Given the description of an element on the screen output the (x, y) to click on. 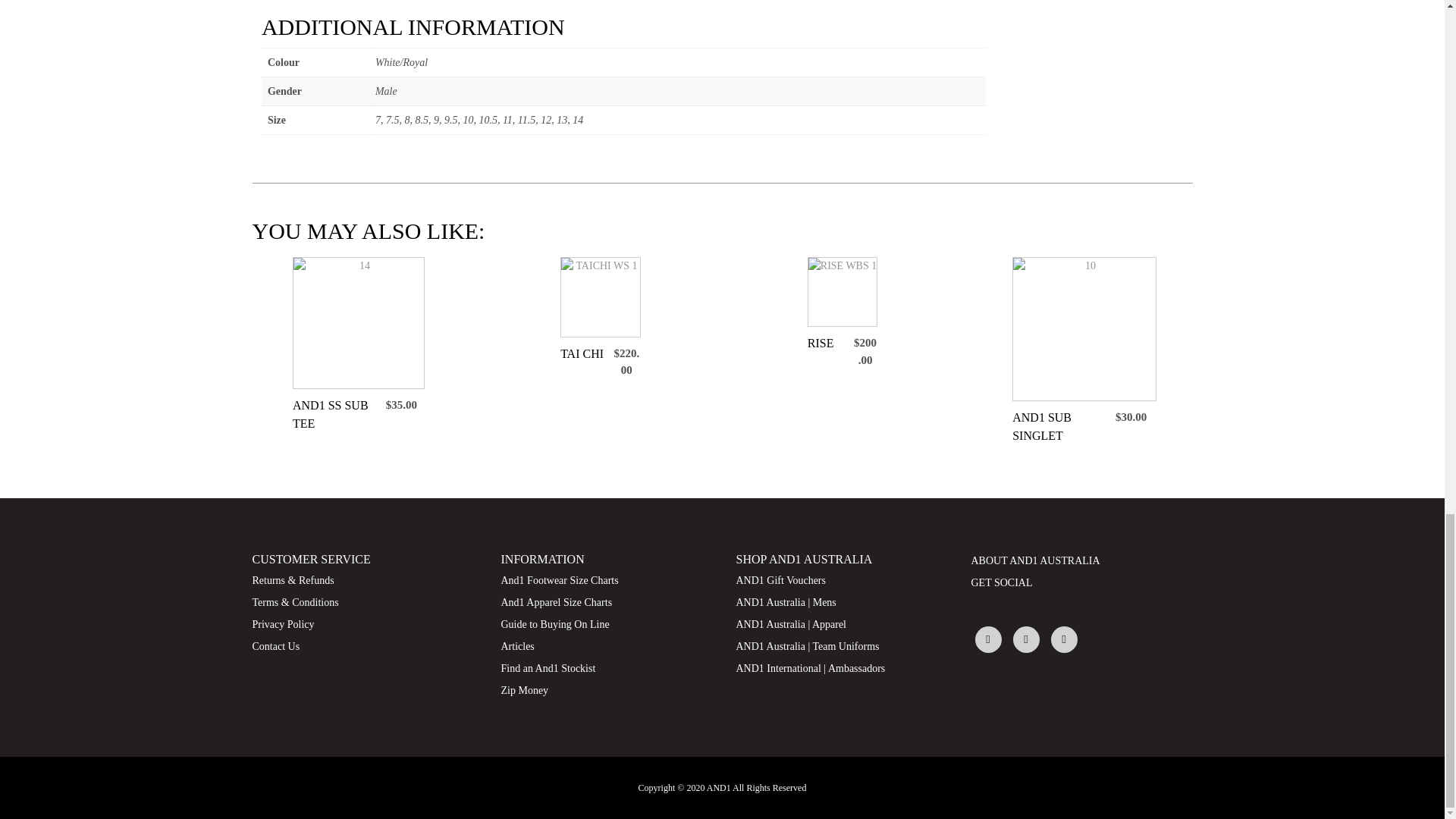
Facebook (988, 639)
